Given the description of an element on the screen output the (x, y) to click on. 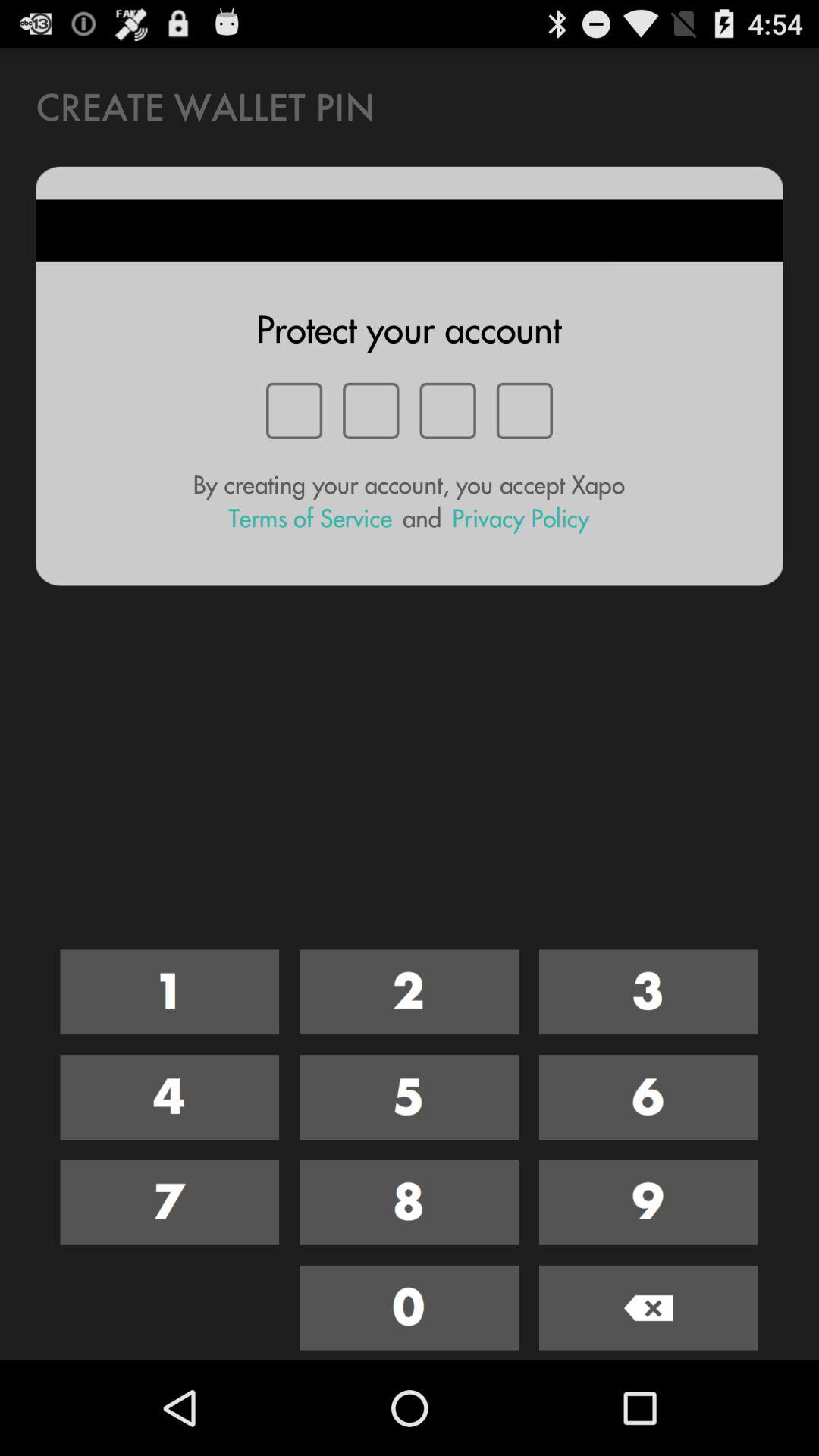
press the terms of service (310, 518)
